Given the description of an element on the screen output the (x, y) to click on. 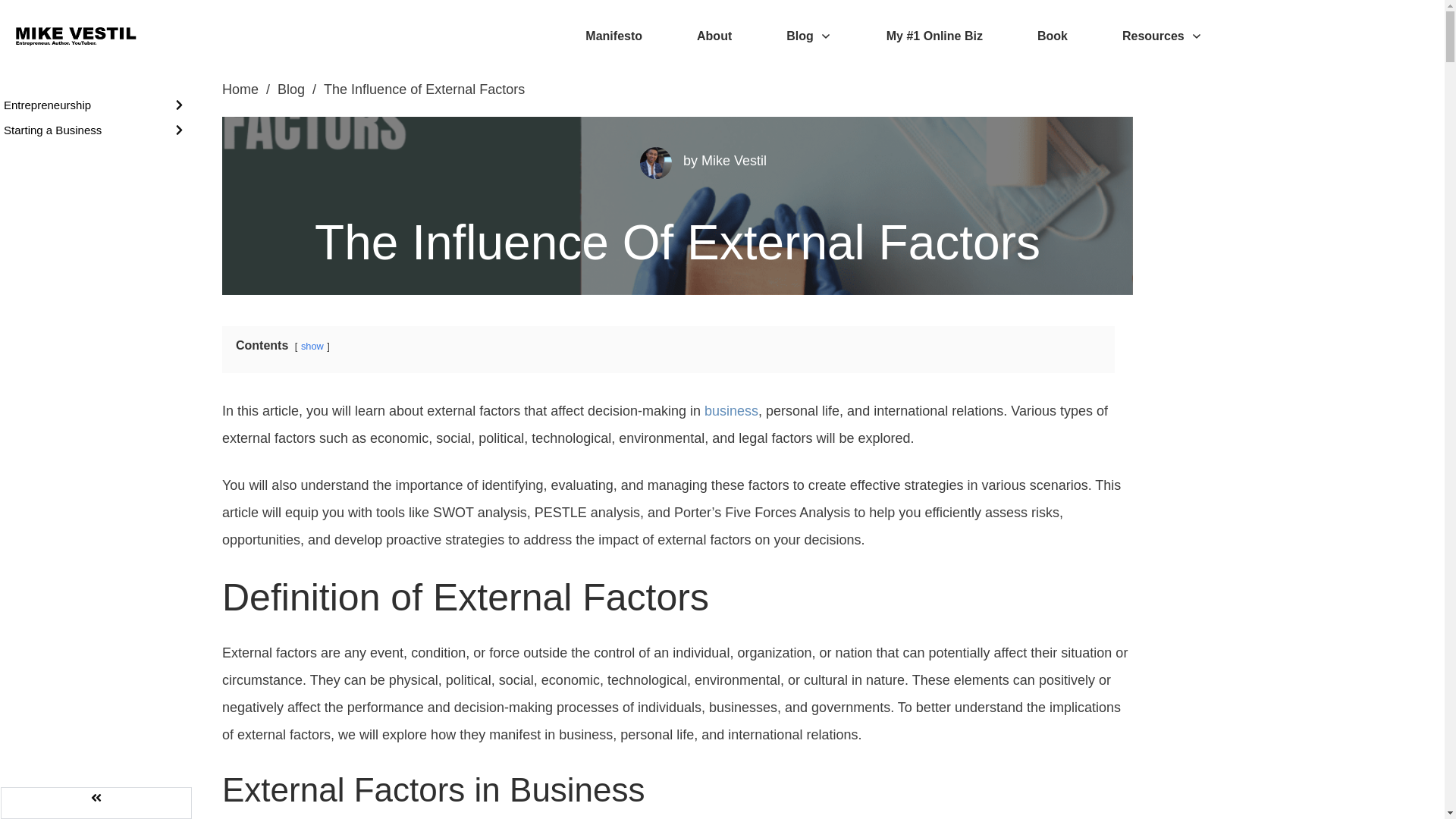
Book (1051, 36)
Resources (1162, 36)
mike-vestil-blog (655, 163)
About (714, 36)
Blog (808, 36)
Manifesto (613, 36)
